Given the description of an element on the screen output the (x, y) to click on. 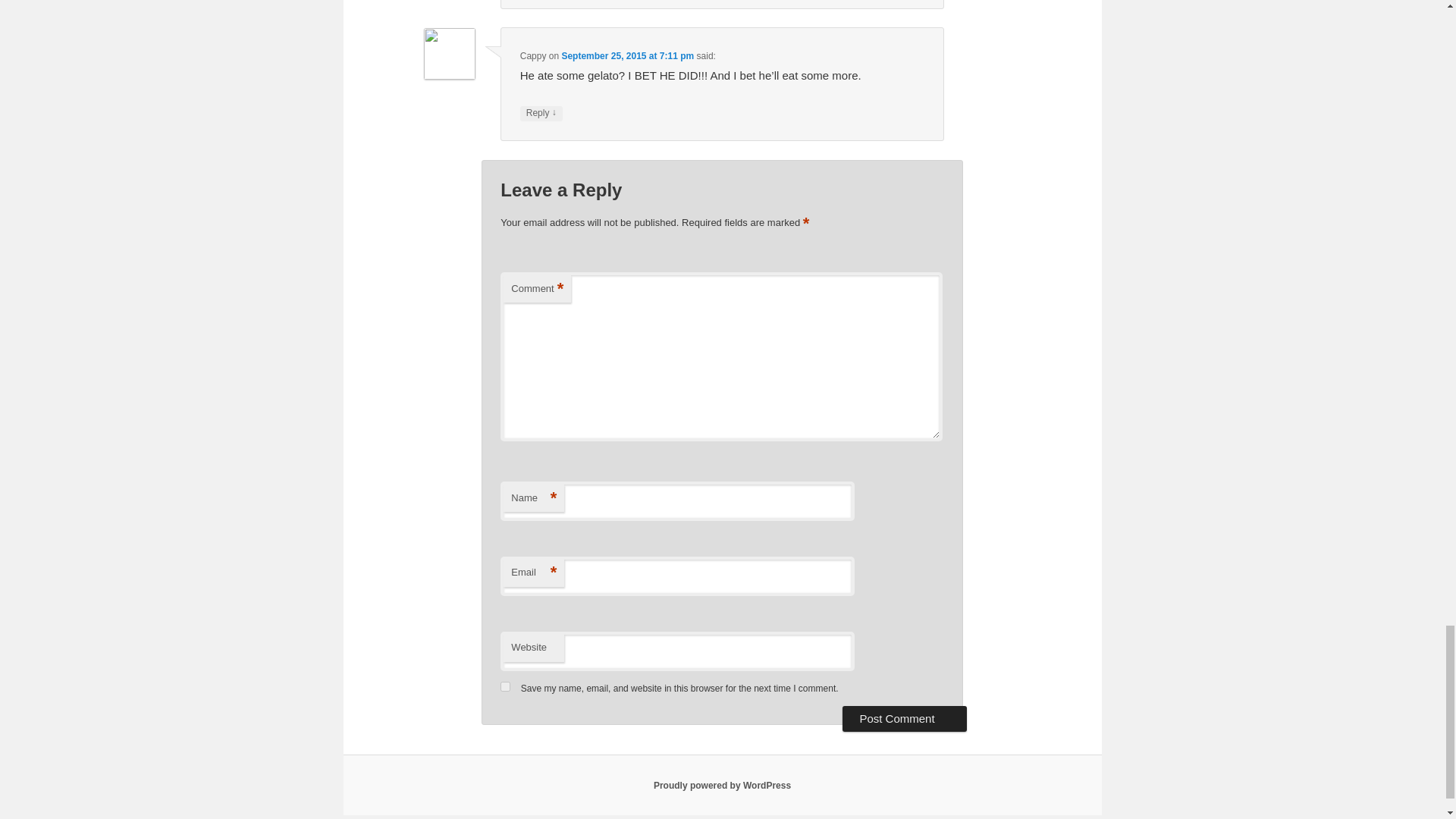
Post Comment (904, 718)
yes (505, 686)
Proudly powered by WordPress (721, 785)
September 25, 2015 at 7:11 pm (627, 55)
Semantic Personal Publishing Platform (721, 785)
Post Comment (904, 718)
